Given the description of an element on the screen output the (x, y) to click on. 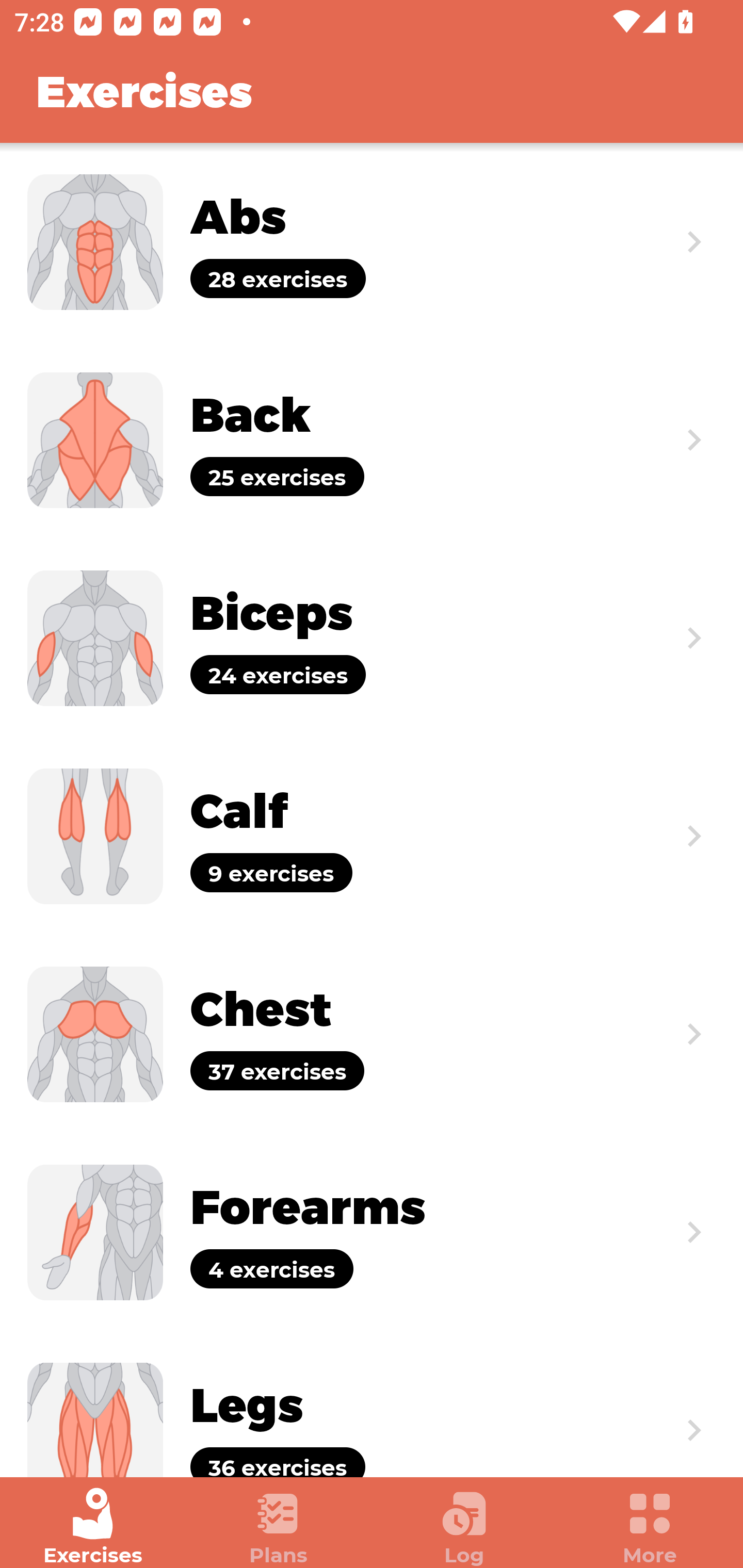
Exercise Abs 28 exercises (371, 241)
Exercise Back 25 exercises (371, 439)
Exercise Biceps 24 exercises (371, 637)
Exercise Calf 9 exercises (371, 836)
Exercise Chest 37 exercises (371, 1033)
Exercise Forearms 4 exercises (371, 1232)
Exercise Legs 36 exercises (371, 1404)
Exercises (92, 1527)
Plans (278, 1527)
Log (464, 1527)
More (650, 1527)
